Given the description of an element on the screen output the (x, y) to click on. 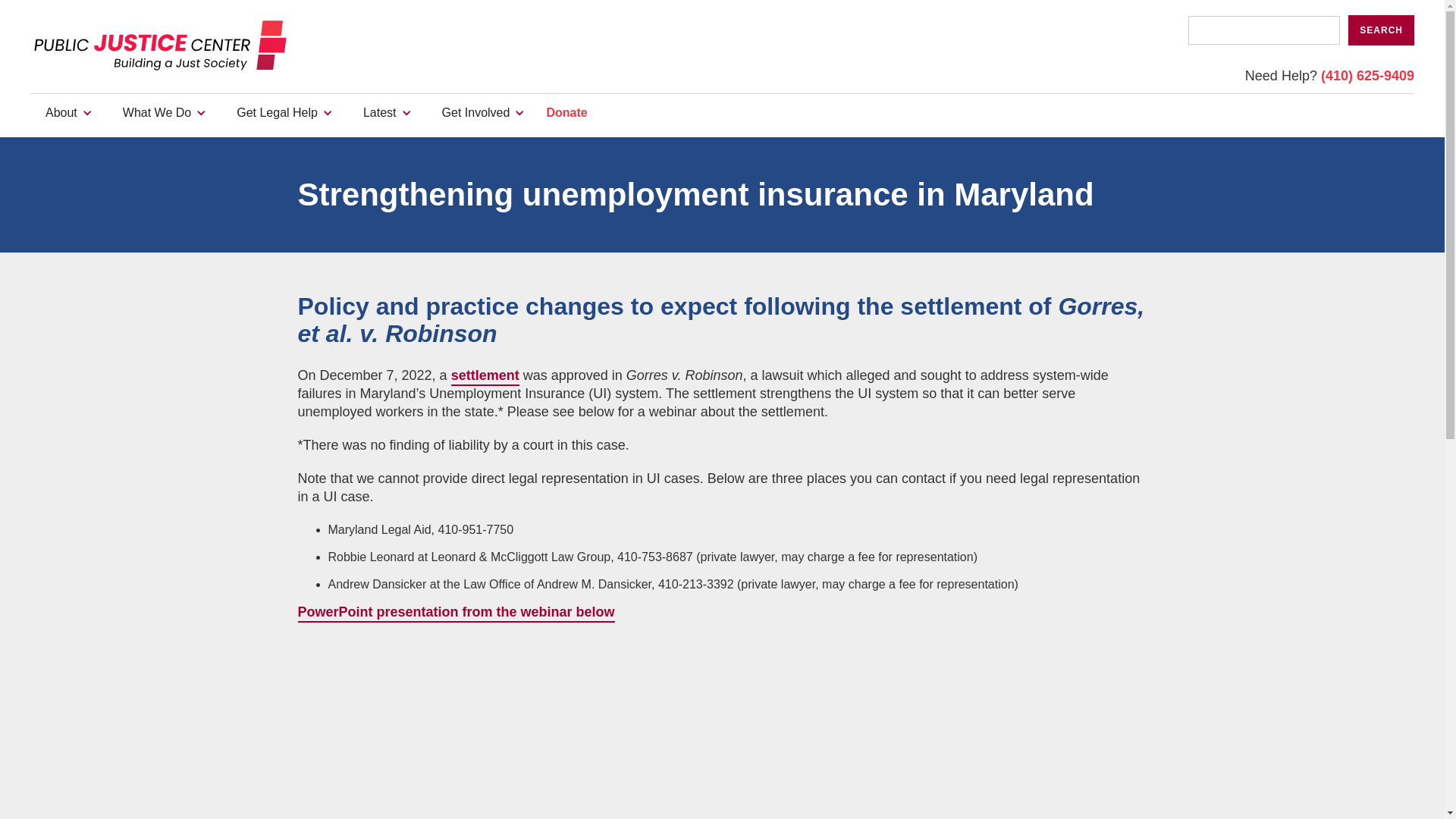
settlement (485, 376)
Strengthening unemployment insurance in Maryland (516, 727)
Search (1380, 30)
Search (1380, 30)
Search (1380, 30)
Donate (567, 112)
PowerPoint presentation from the webinar below (455, 613)
